Given the description of an element on the screen output the (x, y) to click on. 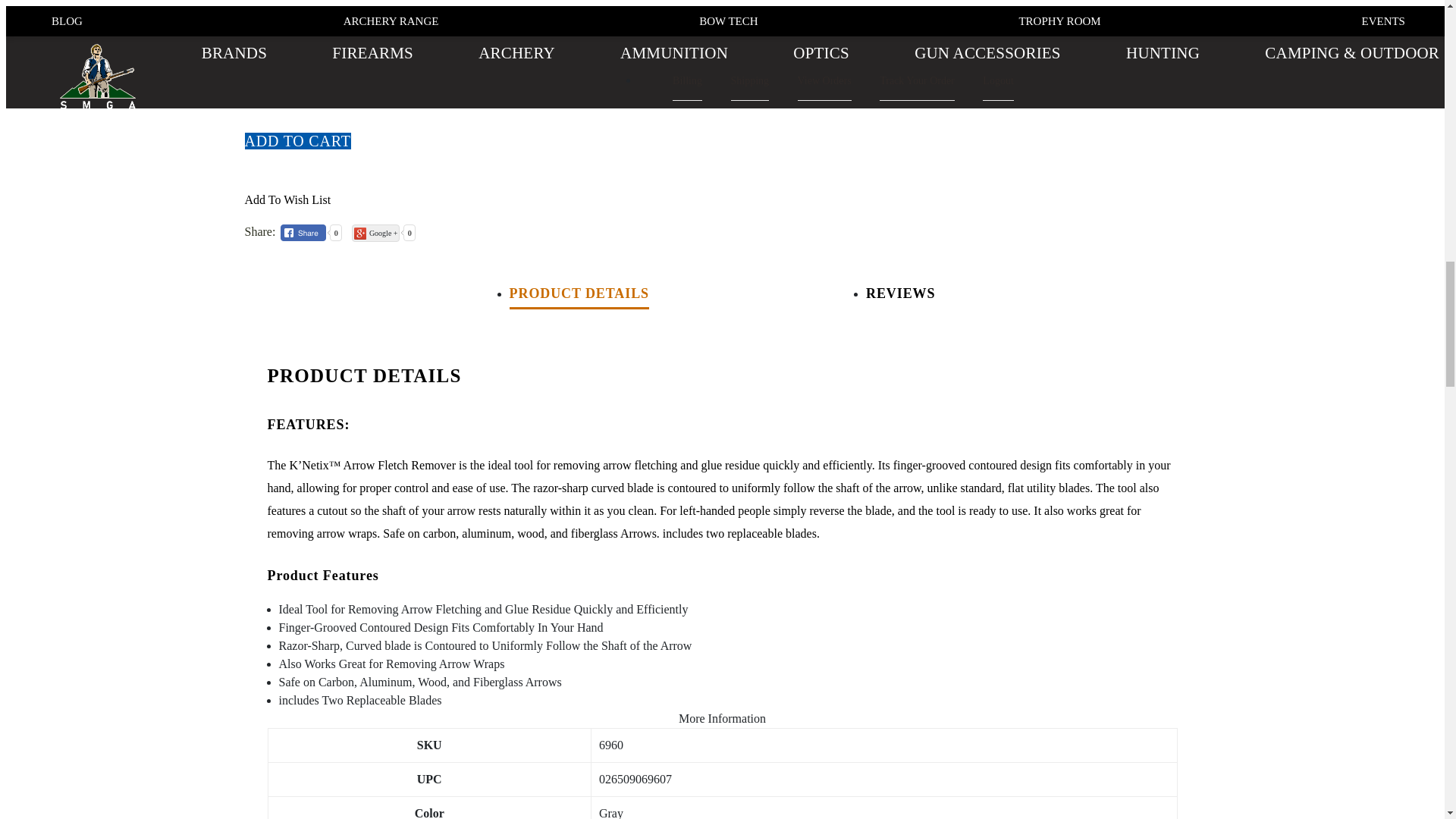
1 (335, 91)
